Given the description of an element on the screen output the (x, y) to click on. 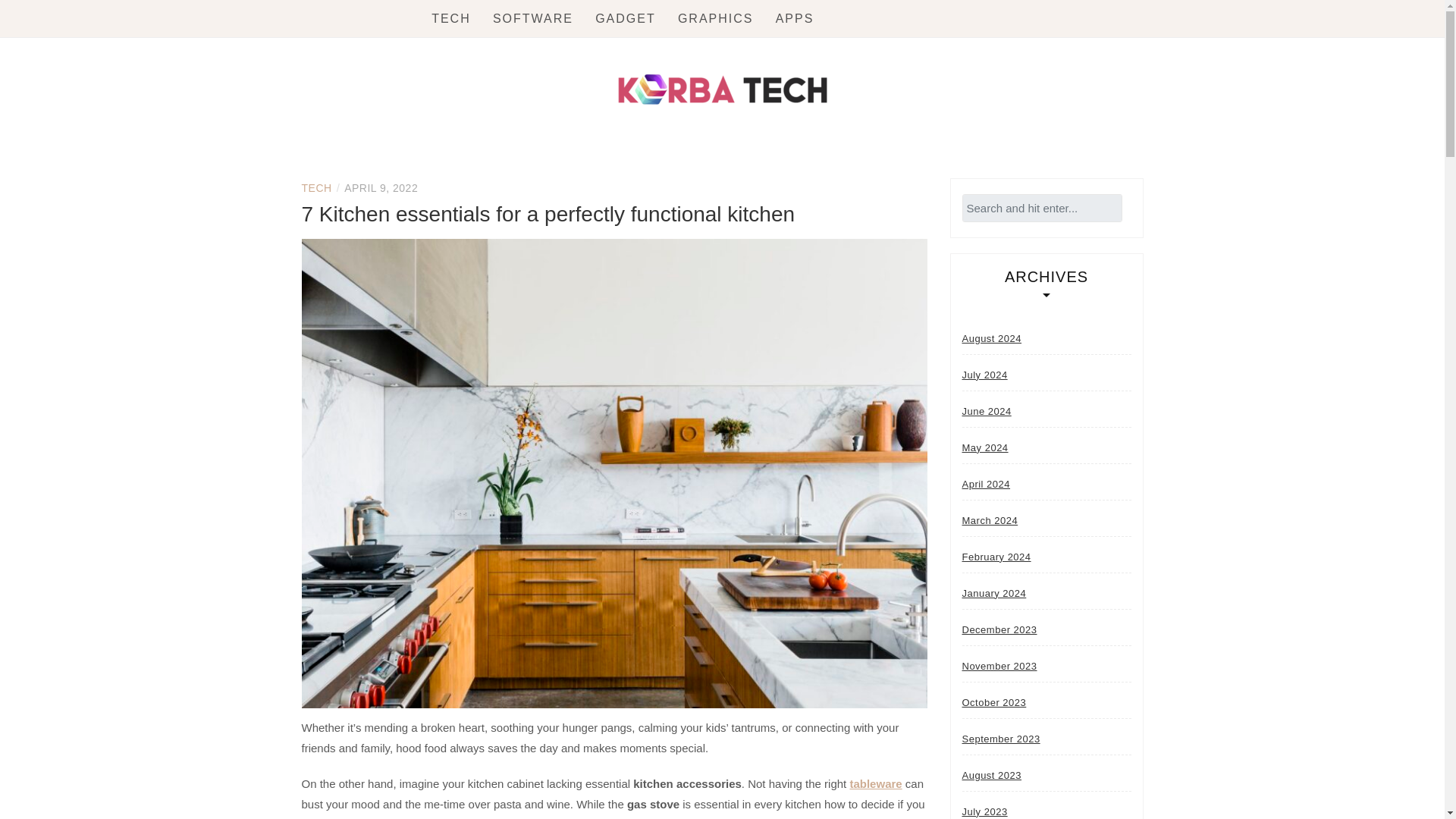
GADGET (625, 18)
November 2023 (998, 665)
TECH (316, 187)
SOFTWARE (533, 18)
August 2023 (991, 775)
January 2024 (993, 593)
October 2023 (993, 702)
TECH (450, 18)
June 2024 (985, 410)
May 2024 (983, 447)
